Given the description of an element on the screen output the (x, y) to click on. 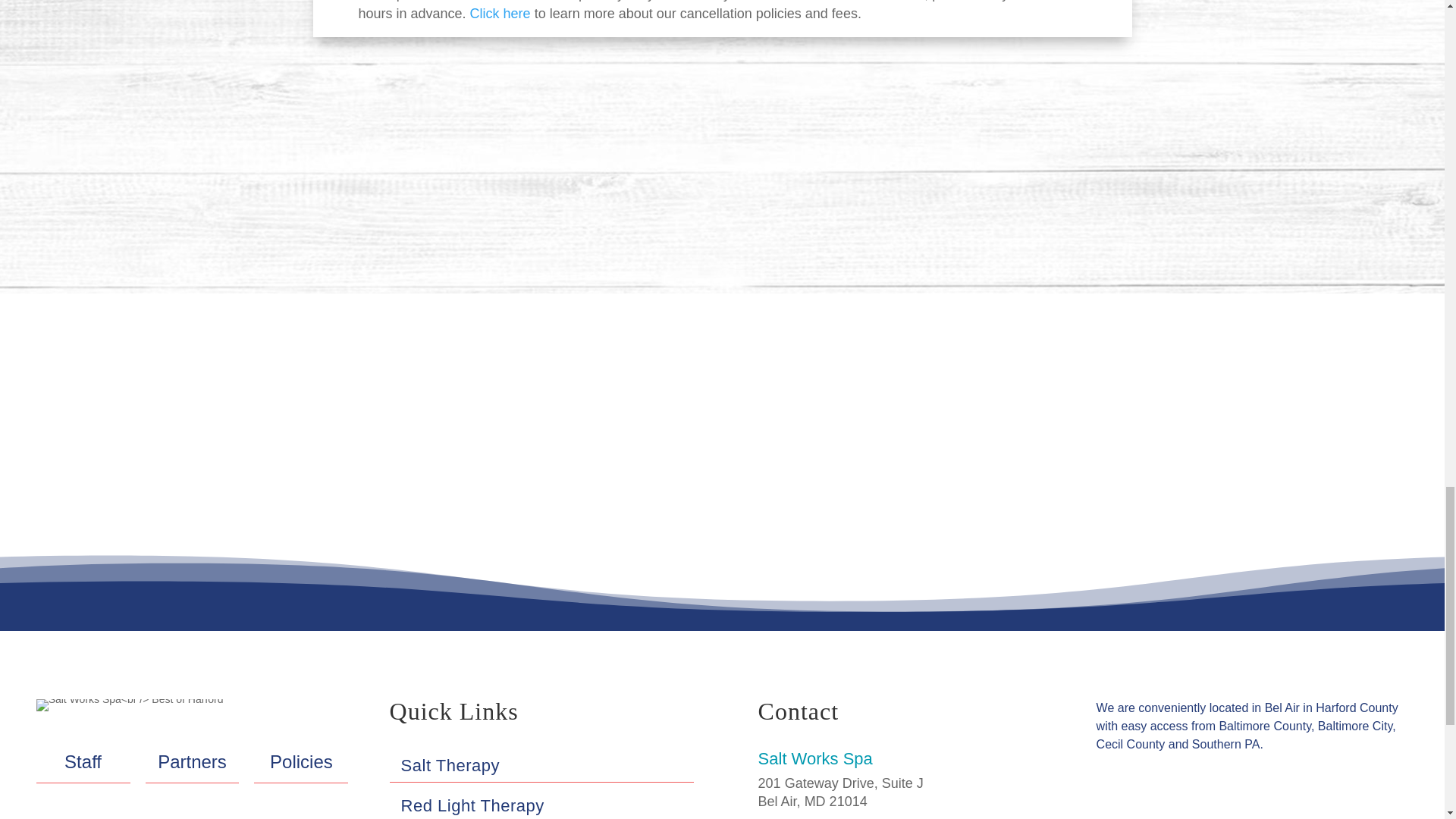
Salt-Works-Spa-Logo-Best-of-Harford-520x390 (130, 705)
